Given the description of an element on the screen output the (x, y) to click on. 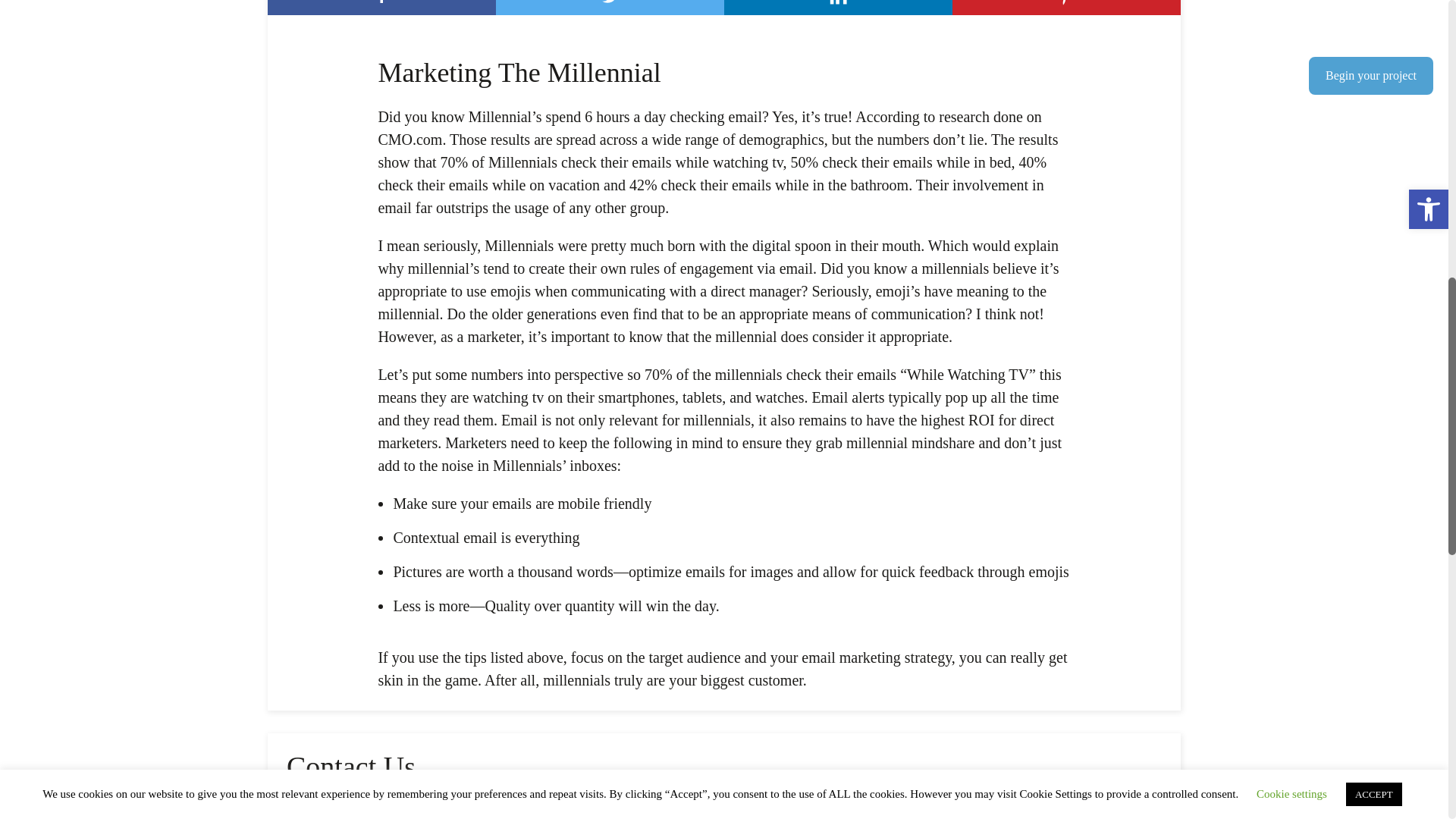
Facebook (381, 7)
Linkedin (837, 7)
Twitter (609, 7)
Pinterest (1066, 7)
